Given the description of an element on the screen output the (x, y) to click on. 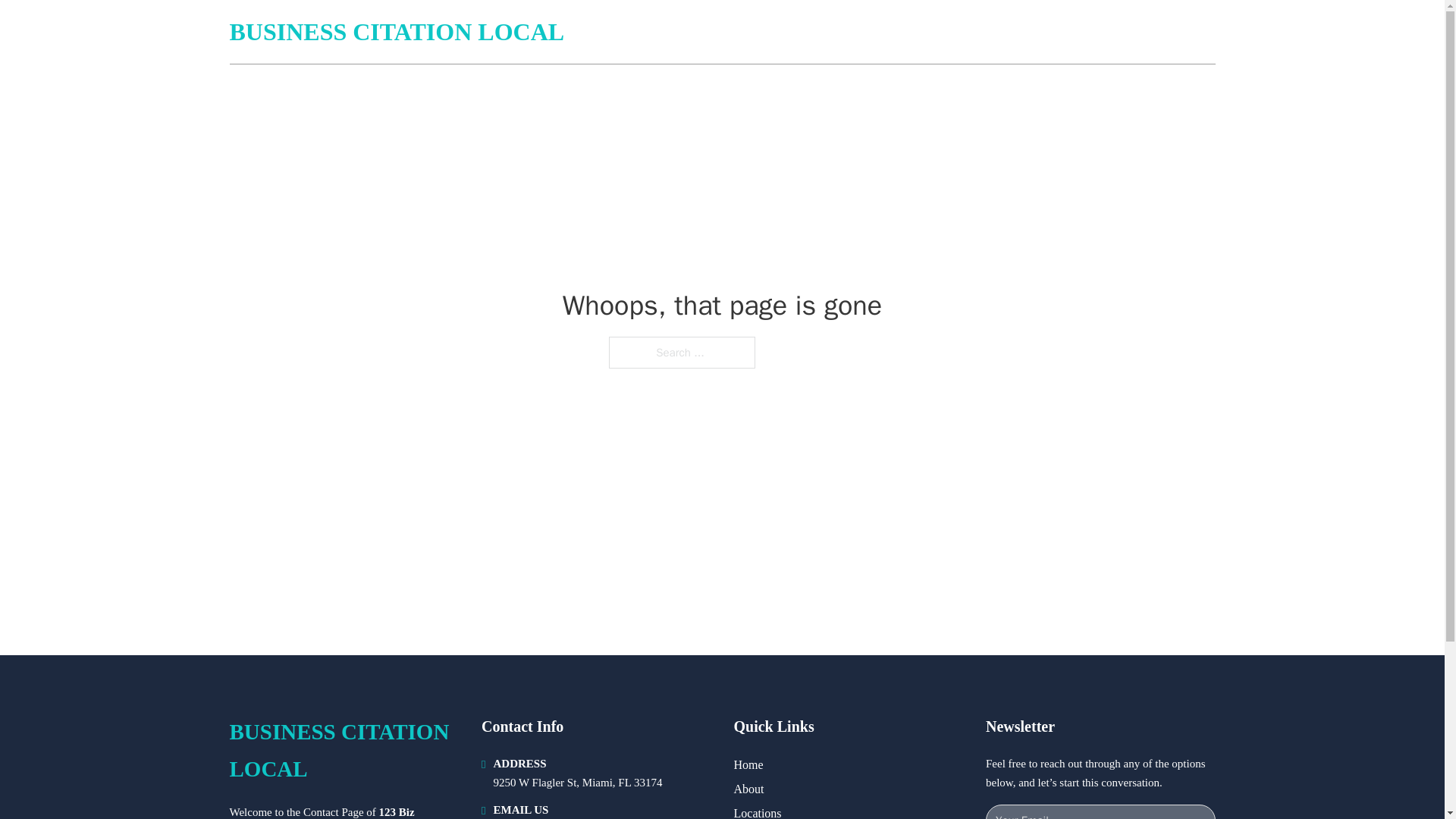
BUSINESS CITATION LOCAL (343, 750)
Home (747, 764)
Locations (757, 811)
LOCATIONS (1105, 31)
BUSINESS CITATION LOCAL (396, 31)
About (748, 788)
HOME (1032, 31)
